Given the description of an element on the screen output the (x, y) to click on. 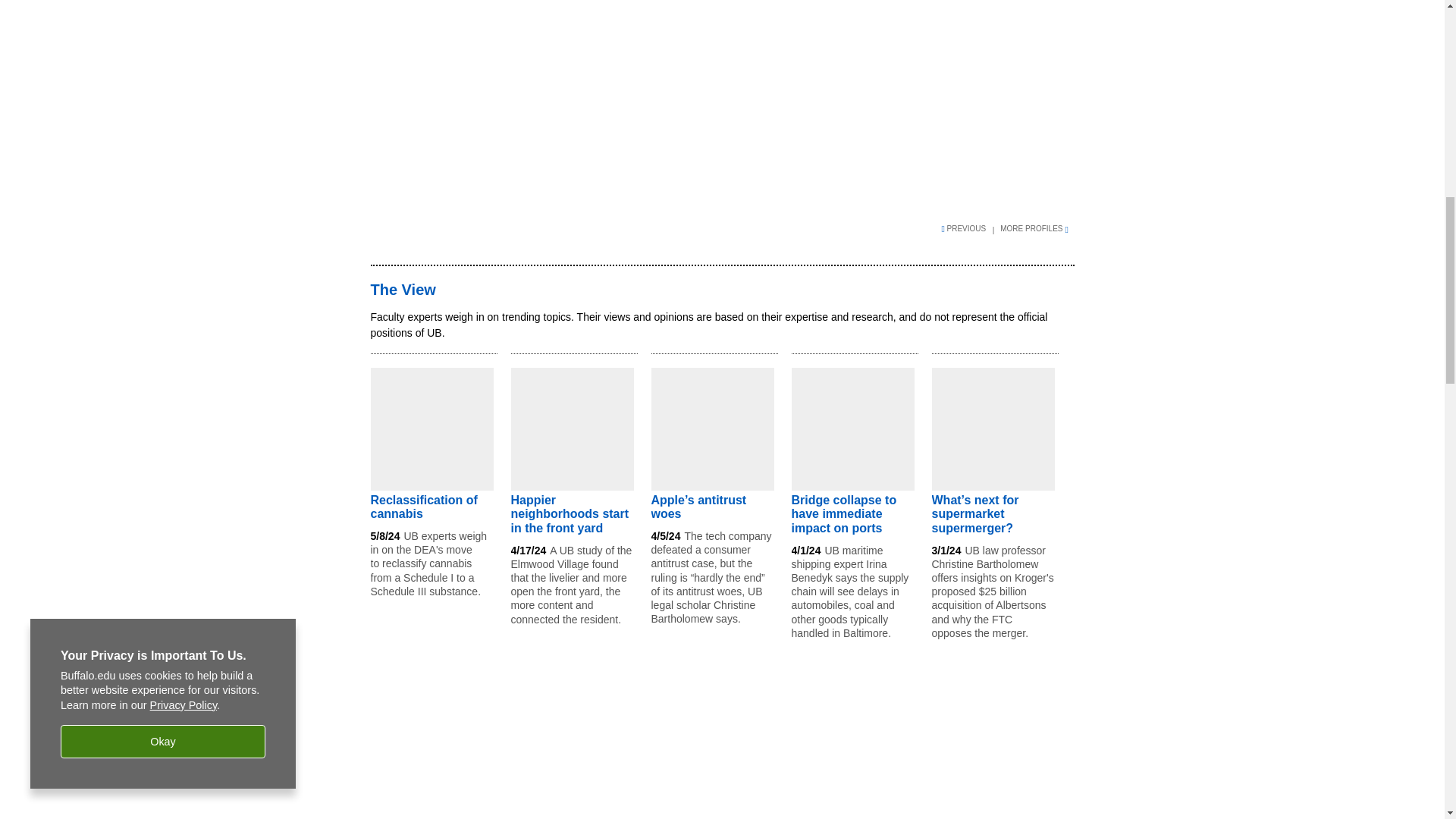
MORE PROFILES (1037, 227)
PREVIOUS (968, 227)
